Given the description of an element on the screen output the (x, y) to click on. 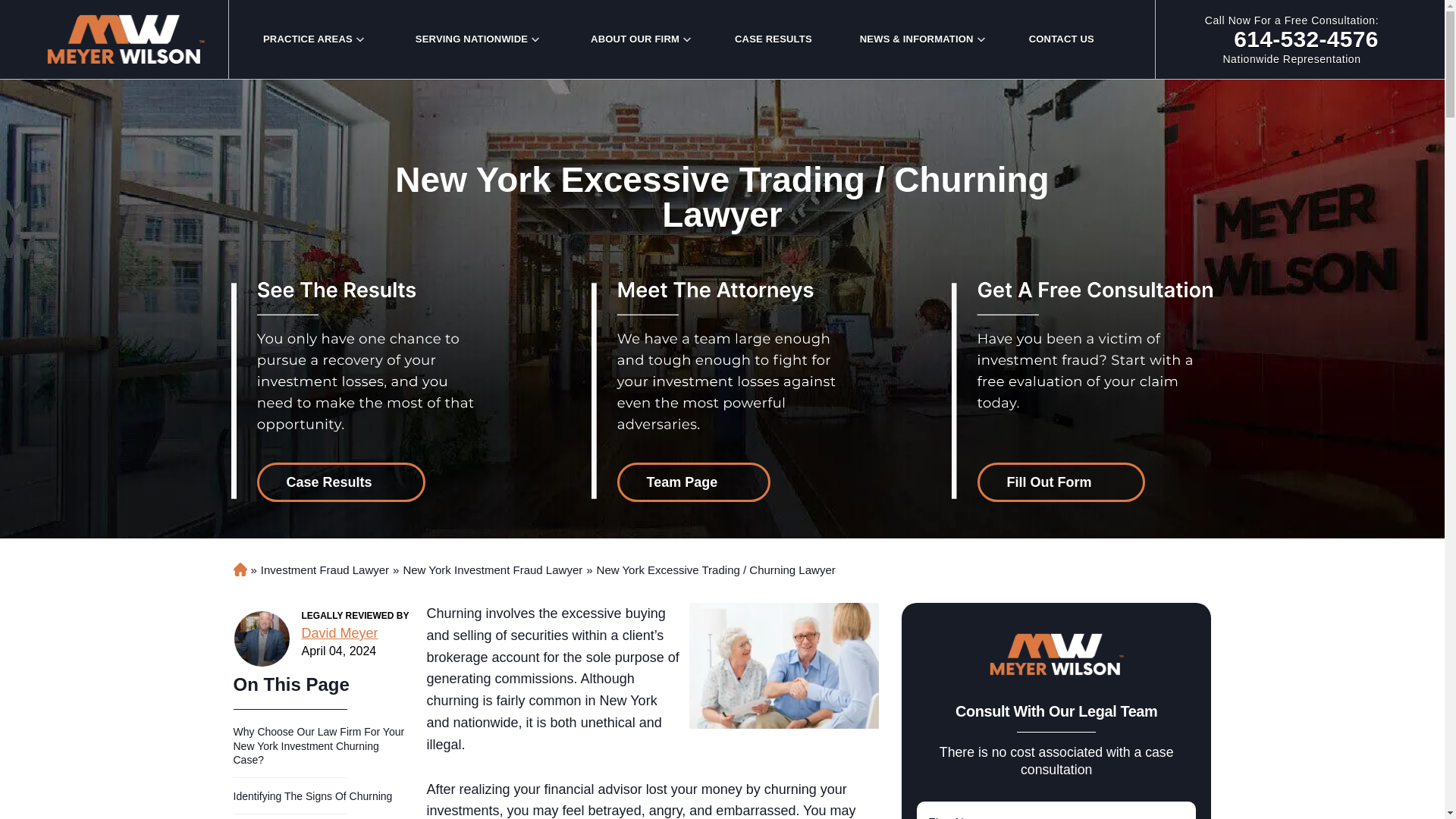
SERVING NATIONWIDE (470, 39)
Fill Out Form (1060, 482)
PRACTICE AREAS (307, 39)
David Meyer (260, 638)
Case Results (340, 482)
Identifying The Signs Of Churning (694, 482)
